Given the description of an element on the screen output the (x, y) to click on. 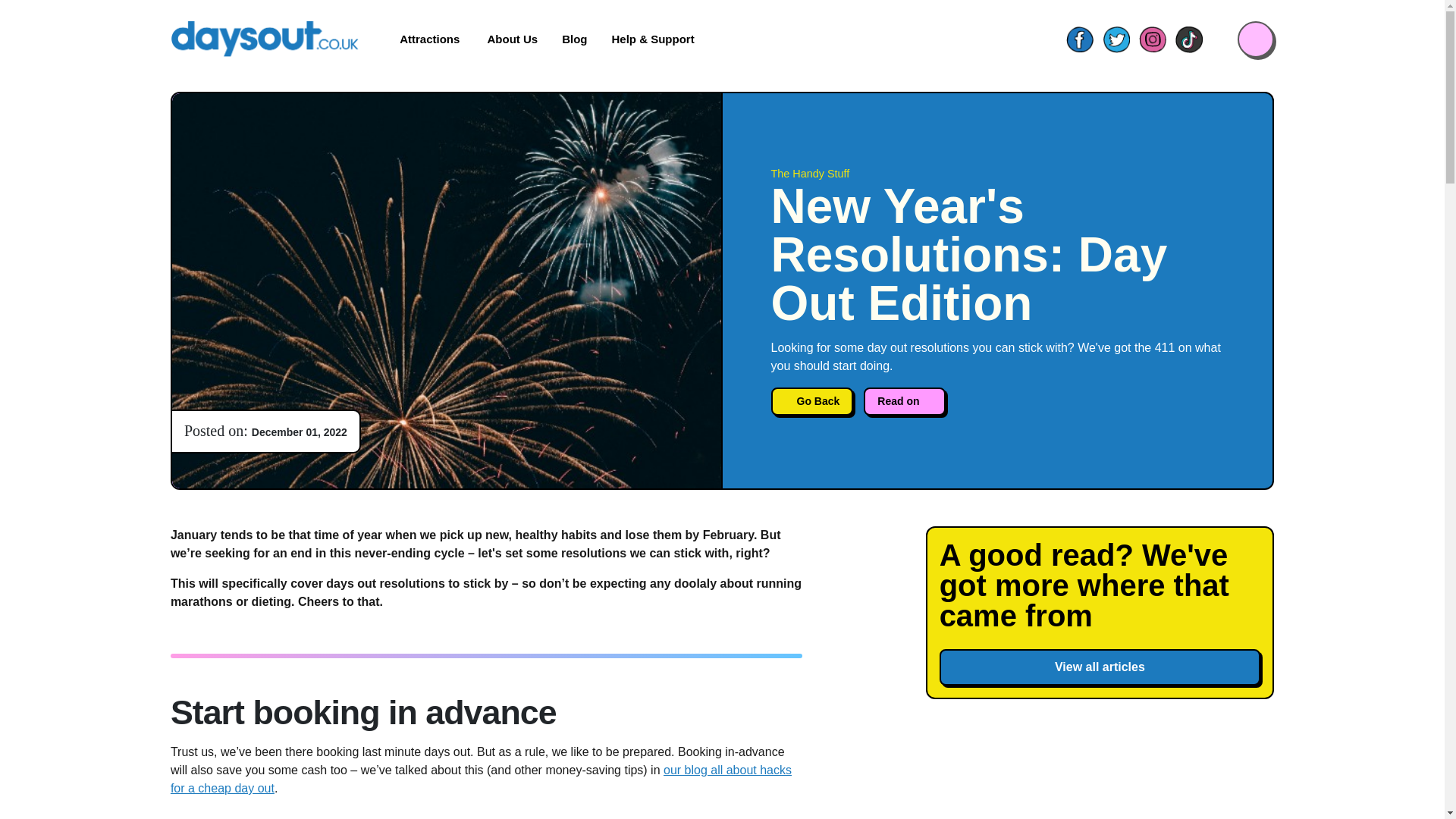
About Days Out (512, 39)
Join us on Twitter (1115, 39)
Blog (574, 39)
Join us on Facebook (1079, 39)
Join us on TikTok (1188, 39)
About Us (512, 39)
The Handy Stuff (997, 174)
Attractions (430, 39)
Read the Blog. (574, 39)
Get in touch with us. (652, 39)
